Given the description of an element on the screen output the (x, y) to click on. 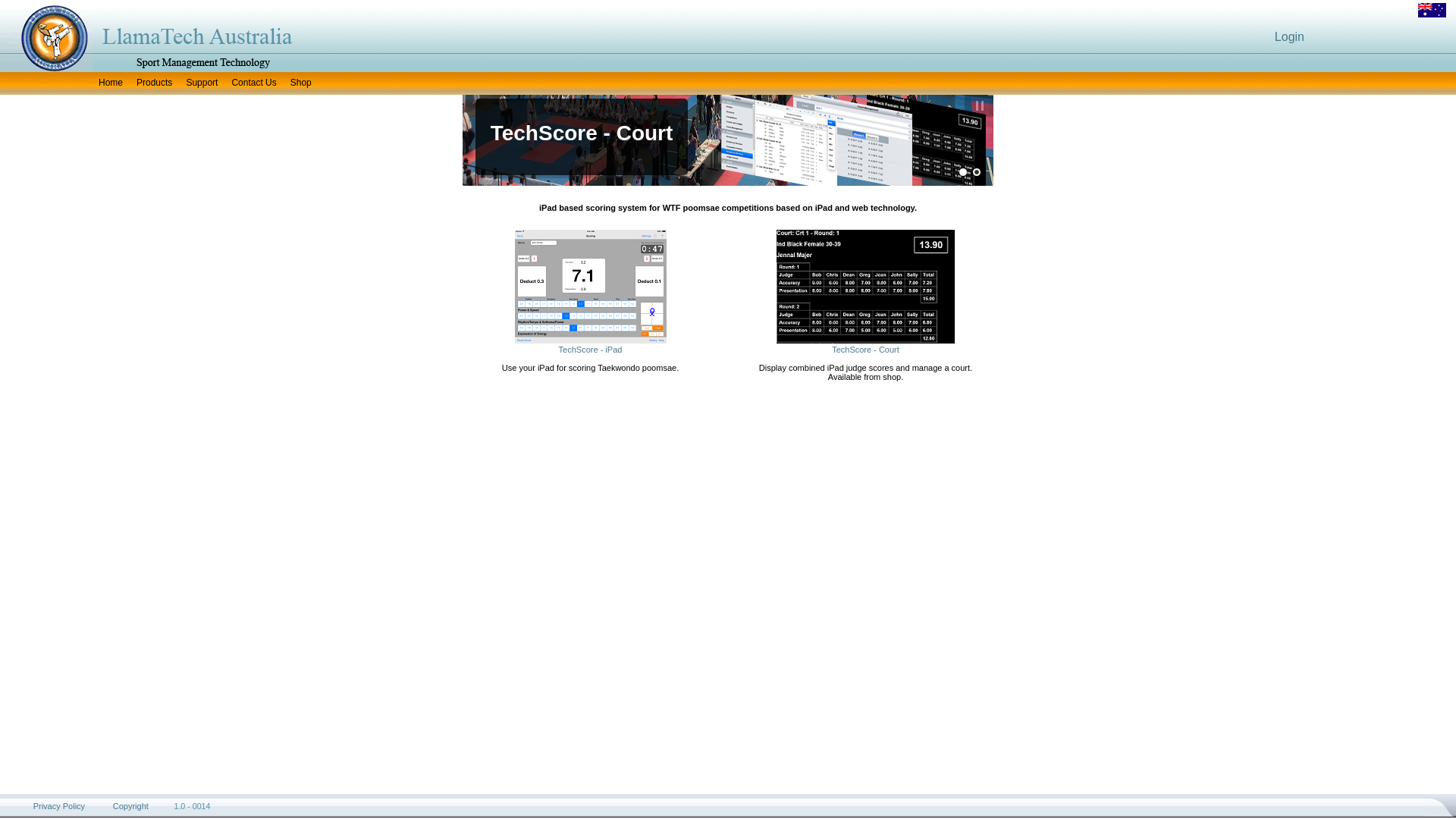
Privacy Policy Element type: text (58, 805)
Contact Us Element type: text (253, 82)
Login Element type: text (1289, 36)
Copyright Element type: text (130, 805)
TechScore - iPad Element type: text (590, 349)
Support Element type: text (201, 82)
Home Element type: text (110, 82)
Shop Element type: text (300, 82)
TechScore - Court Element type: text (865, 349)
